Given the description of an element on the screen output the (x, y) to click on. 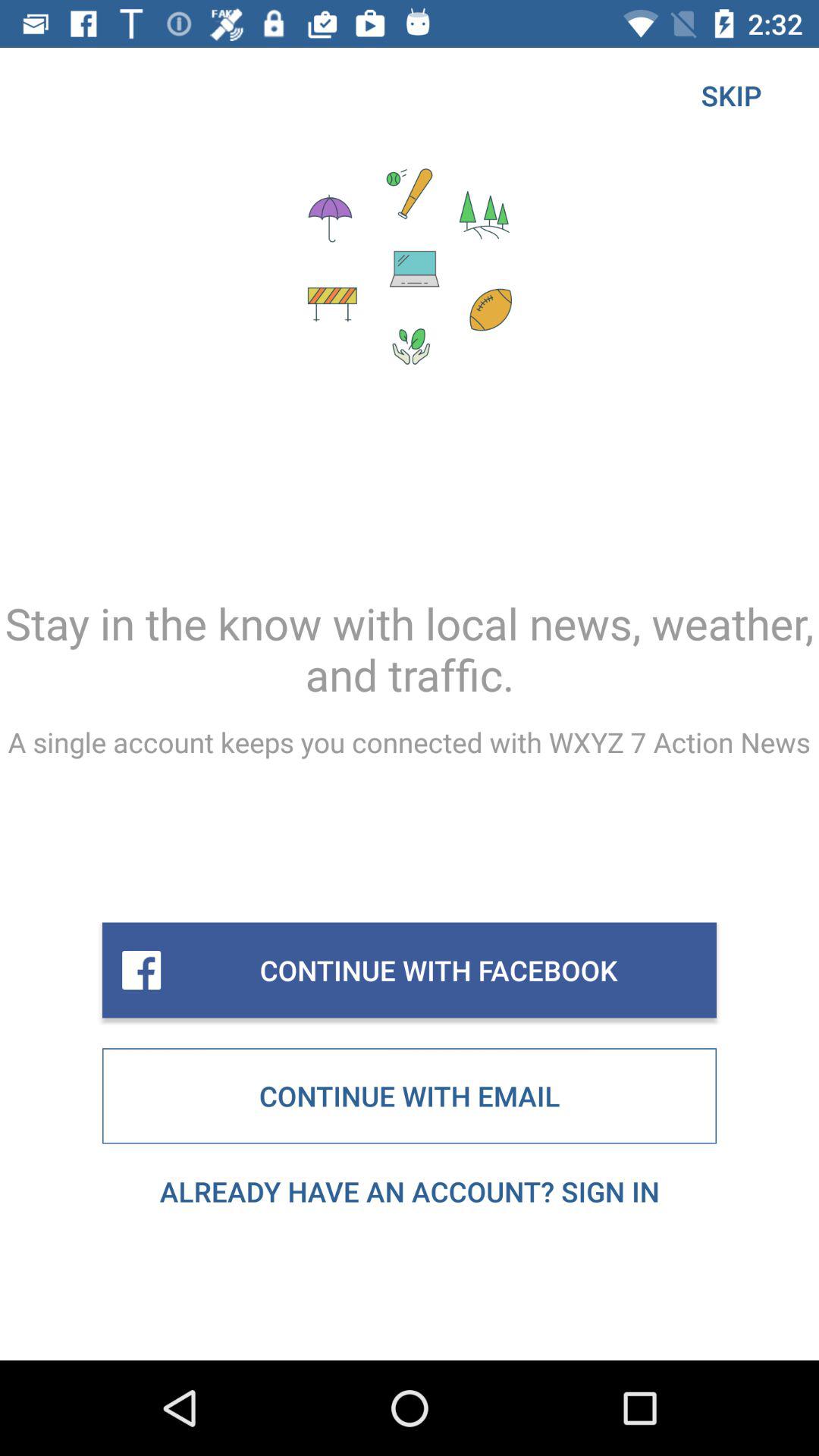
open already have an icon (409, 1191)
